Given the description of an element on the screen output the (x, y) to click on. 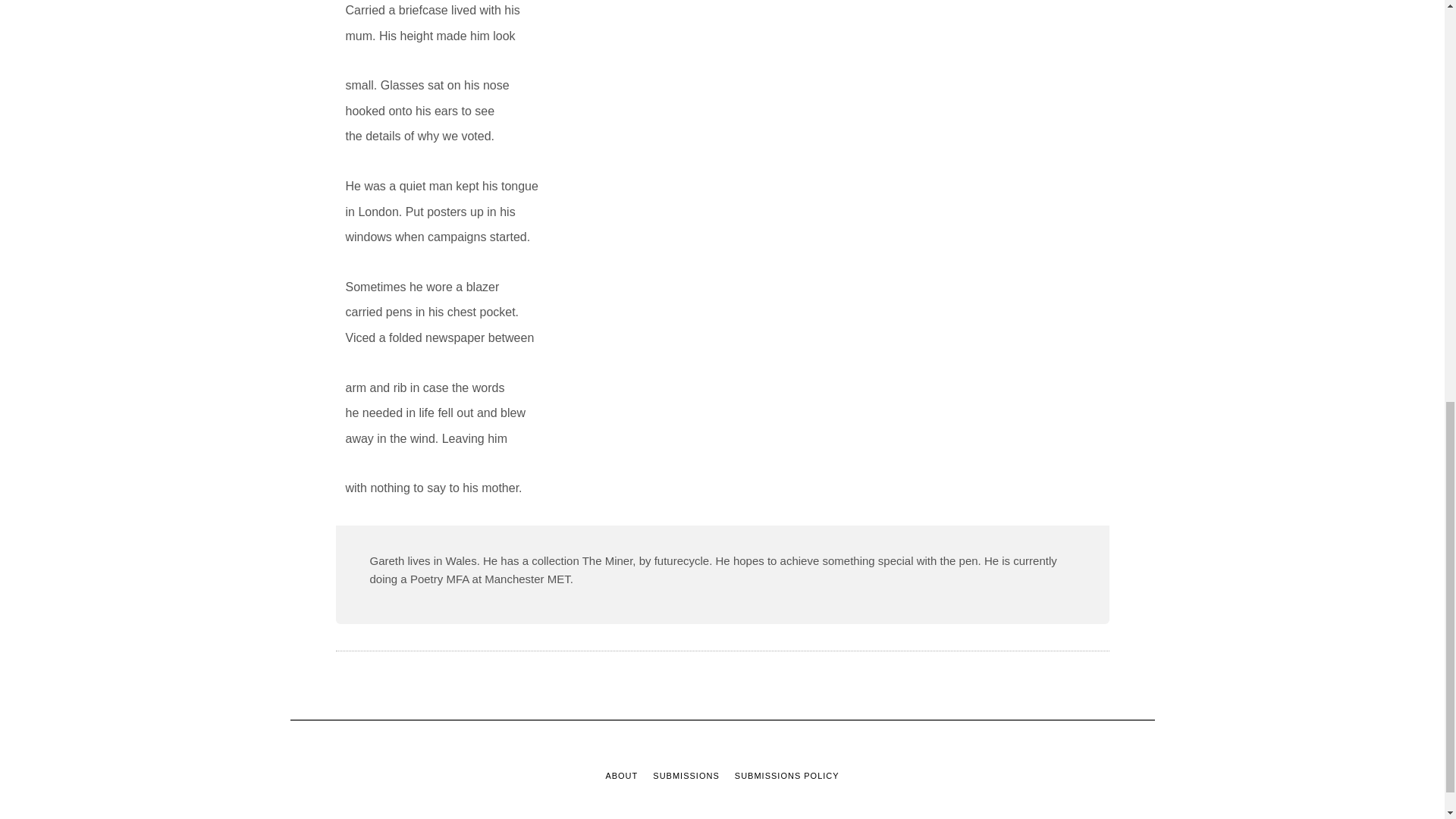
ABOUT (621, 775)
SUBMISSIONS POLICY (787, 775)
SUBMISSIONS (685, 775)
